Given the description of an element on the screen output the (x, y) to click on. 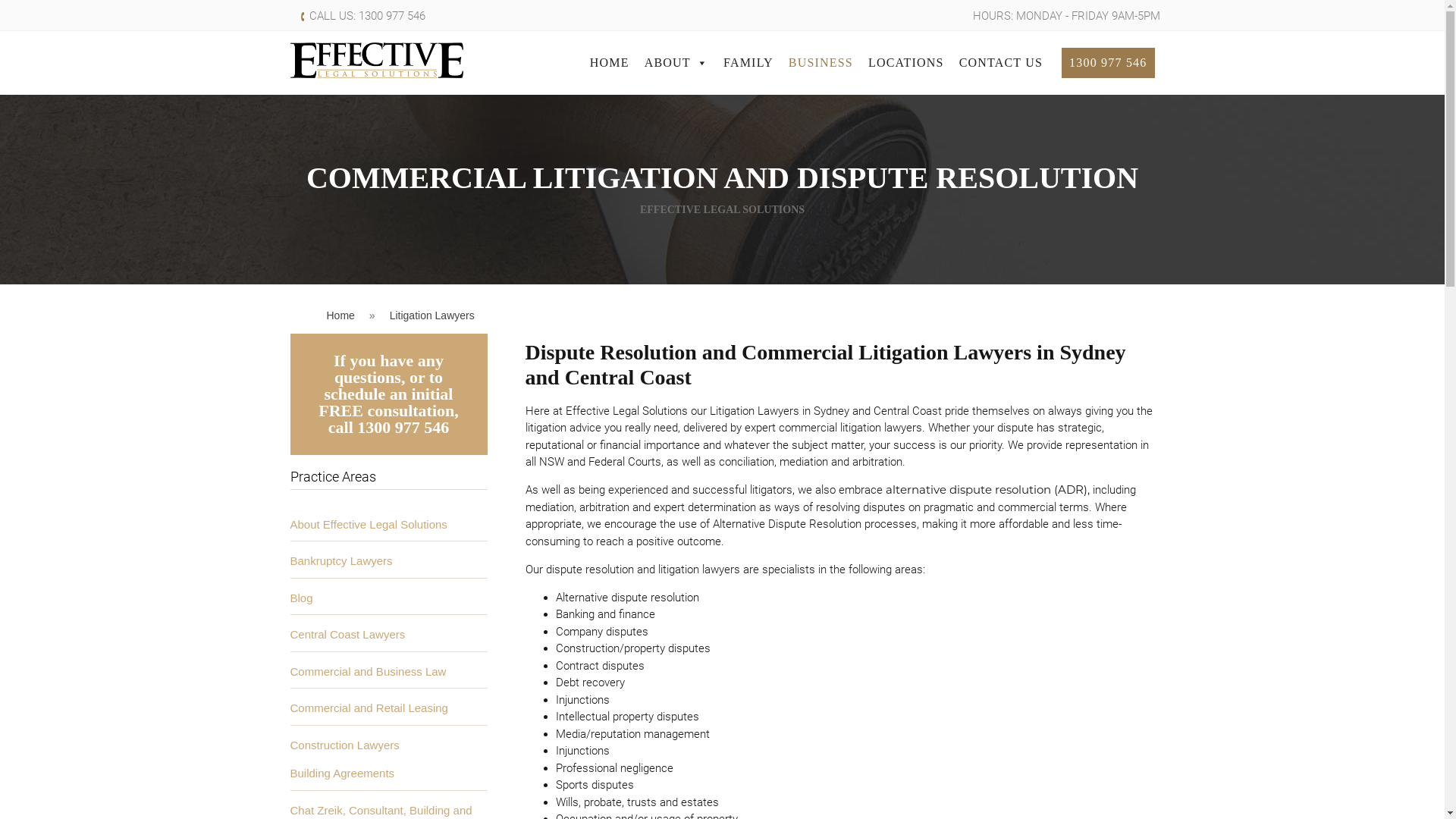
BUSINESS Element type: text (820, 62)
ABOUT Element type: text (676, 62)
HOME Element type: text (609, 62)
CONTACT US Element type: text (1000, 62)
About Effective Legal Solutions Element type: text (367, 523)
Bankruptcy Lawyers Element type: text (340, 560)
Building Agreements Element type: text (341, 772)
Litigation Lawyers Element type: text (432, 315)
Central Coast Lawyers Element type: text (346, 633)
Blog Element type: text (300, 597)
Commercial and Retail Leasing Element type: text (368, 707)
Commercial and Business Law Element type: text (367, 671)
Construction Lawyers Element type: text (343, 744)
FAMILY Element type: text (748, 62)
LOCATIONS Element type: text (905, 62)
1300 977 546 Element type: text (1107, 62)
Home Element type: text (339, 315)
